Given the description of an element on the screen output the (x, y) to click on. 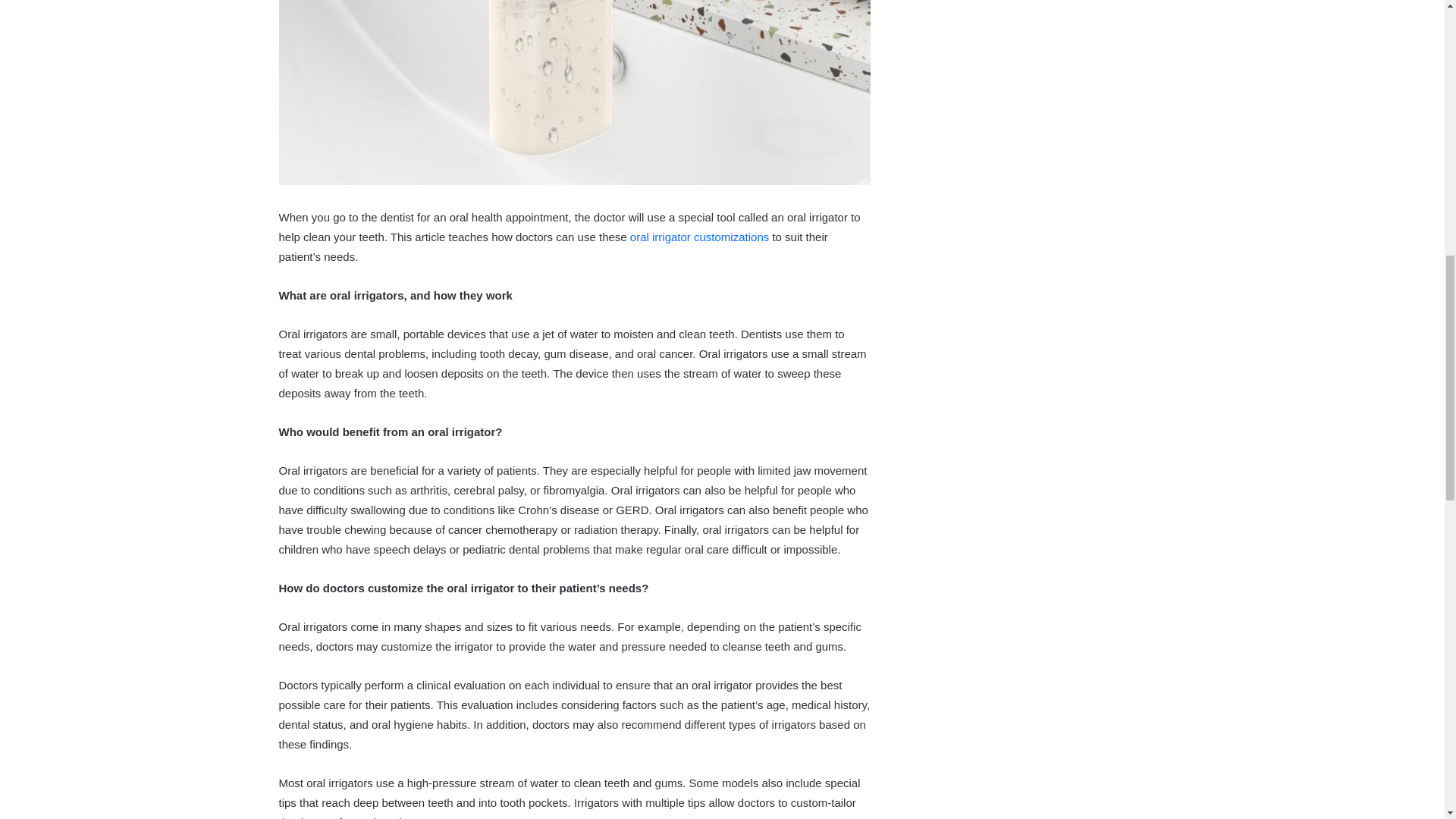
oral irrigator customizations (699, 236)
